Given the description of an element on the screen output the (x, y) to click on. 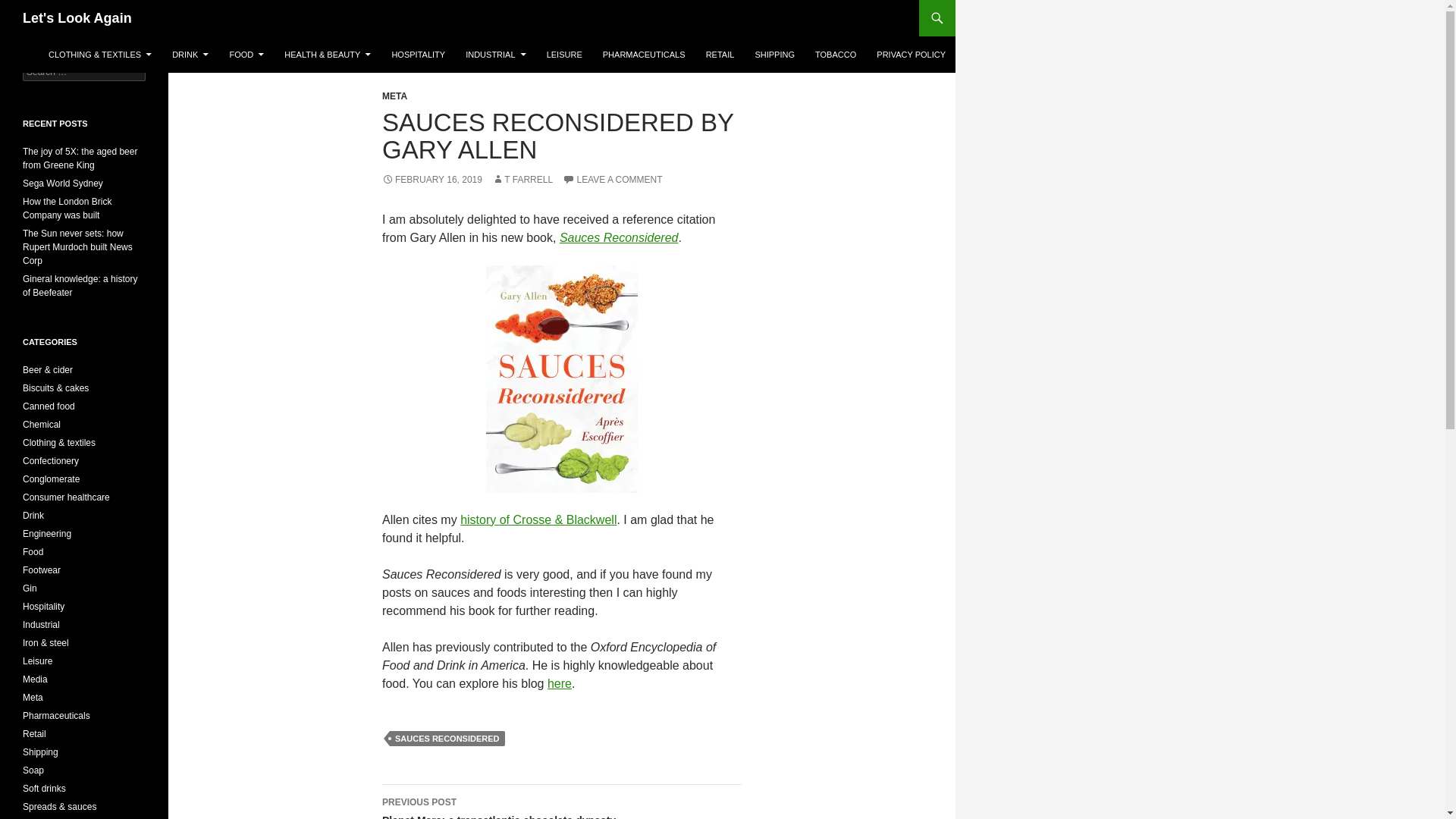
SHIPPING (774, 54)
SAUCES RECONSIDERED (561, 801)
PRIVACY POLICY (447, 738)
PHARMACEUTICALS (911, 54)
LEAVE A COMMENT (644, 54)
RETAIL (612, 179)
Sauces Reconsidered (720, 54)
DRINK (618, 237)
T FARRELL (189, 54)
FOOD (522, 179)
SKIP TO CONTENT (246, 54)
META (495, 54)
HOSPITALITY (394, 95)
